Given the description of an element on the screen output the (x, y) to click on. 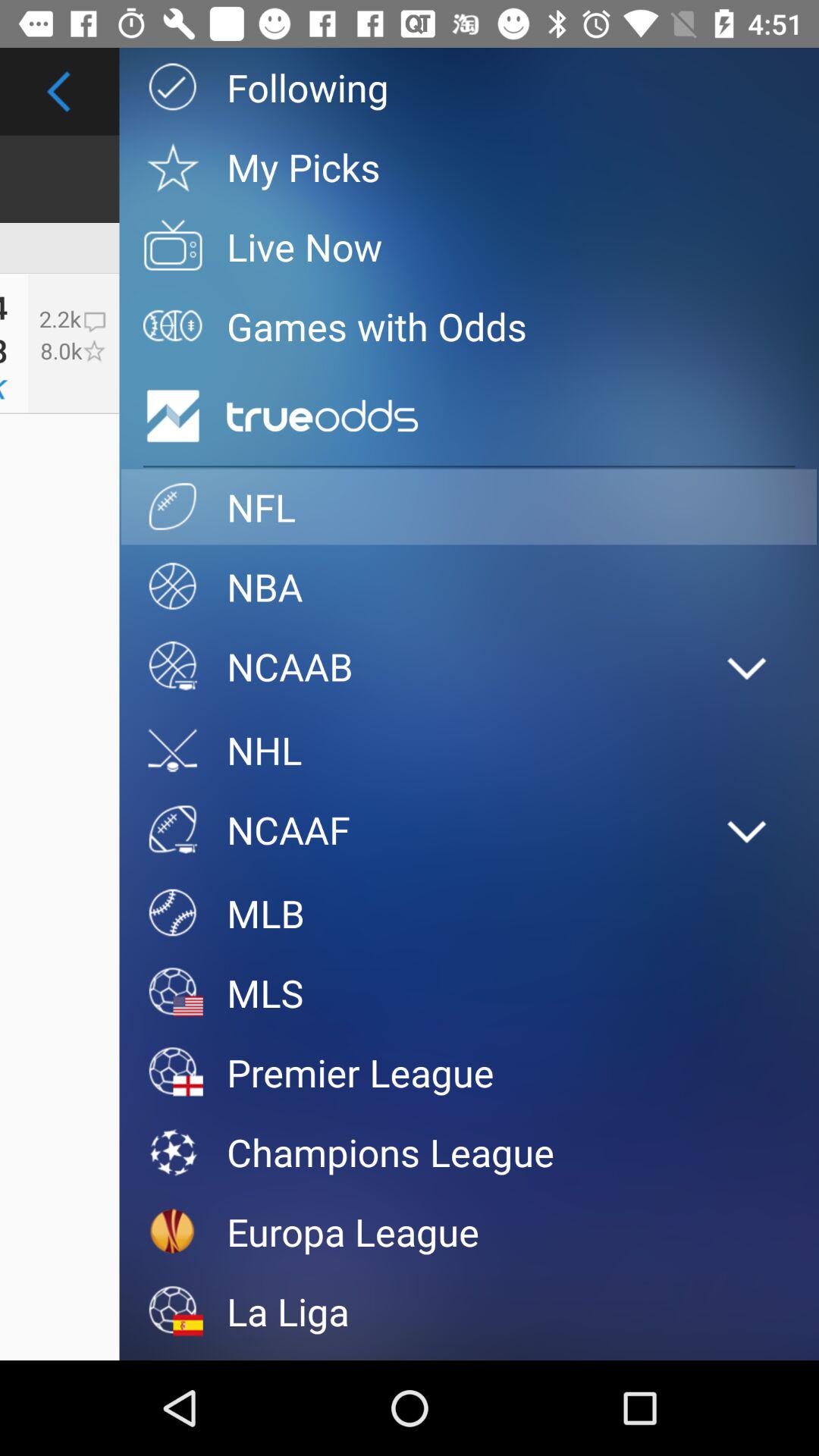
tap the icon above the champions league item (469, 1072)
